Given the description of an element on the screen output the (x, y) to click on. 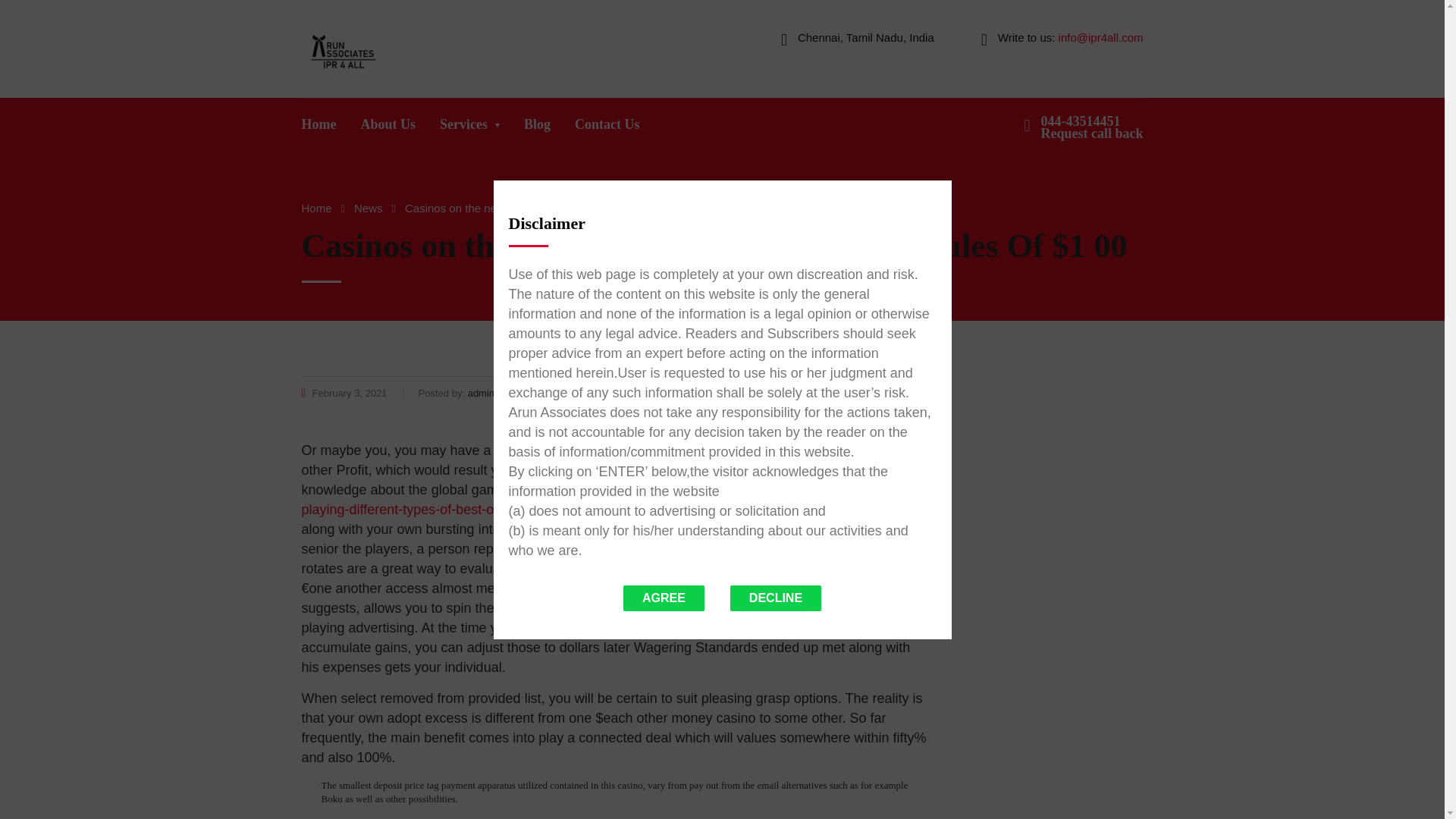
Go to IPR4ALL. (316, 207)
No Comments (890, 392)
Services (470, 128)
News (367, 207)
Home (1091, 127)
DECLINE (319, 128)
Go to News. (775, 597)
Blog (367, 207)
Home (537, 128)
About Us (316, 207)
Contact Us (387, 128)
